Given the description of an element on the screen output the (x, y) to click on. 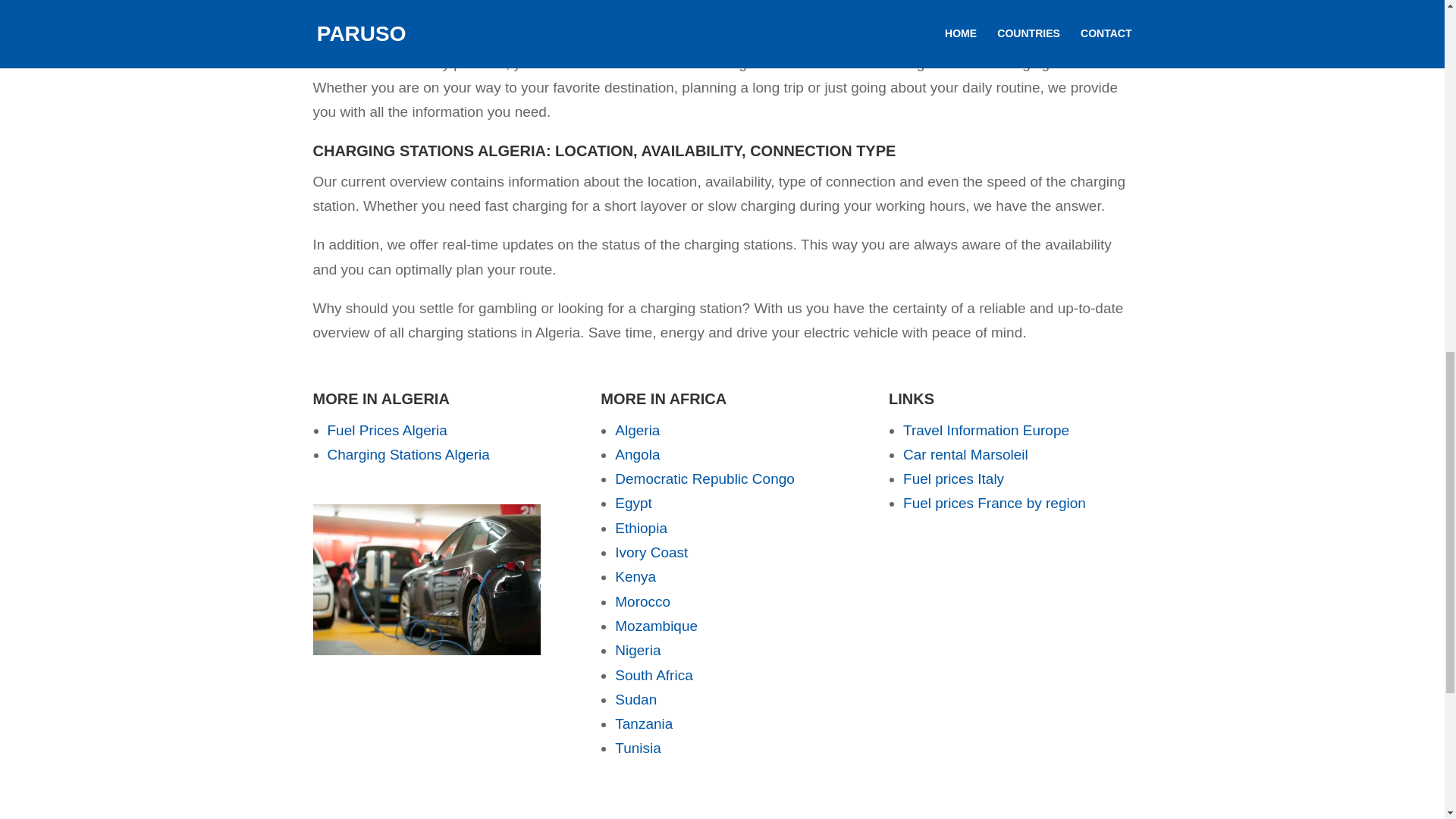
Sudan (635, 699)
Car rental Marsoleil (964, 454)
Algeria (636, 430)
Kenya (635, 576)
Angola (636, 454)
Tanzania (643, 723)
Travel Information Europe (985, 430)
Fuel Prices Algeria (386, 430)
Charging Stations Algeria (408, 454)
Morocco (641, 601)
Fuel prices Italy (953, 478)
Democratic Republic Congo (704, 478)
Egypt (633, 503)
Mozambique (655, 625)
Ethiopia (640, 528)
